Given the description of an element on the screen output the (x, y) to click on. 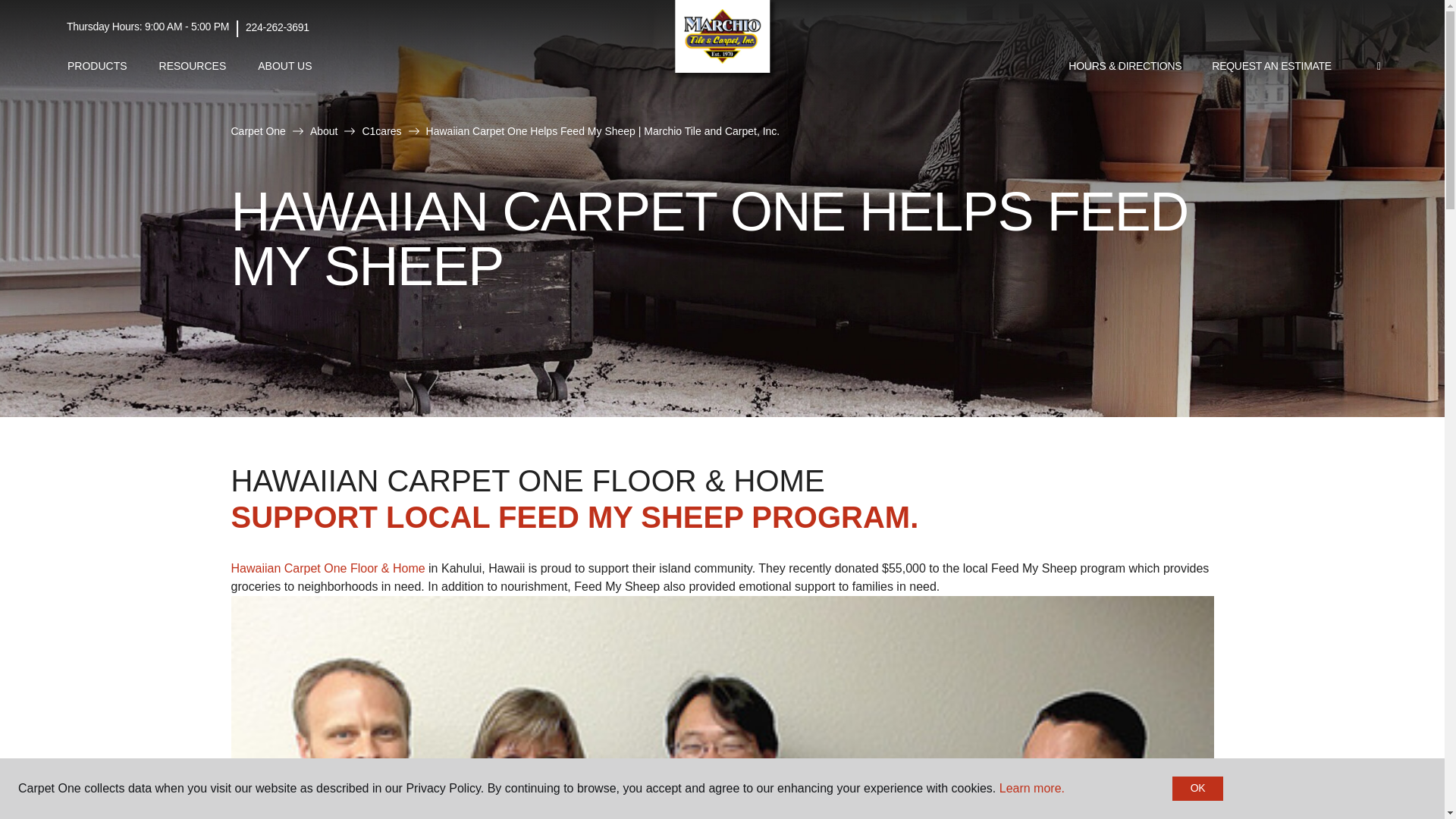
224-262-3691 (277, 27)
PRODUCTS (97, 66)
ABOUT US (284, 66)
RESOURCES (193, 66)
REQUEST AN ESTIMATE (1271, 66)
